Given the description of an element on the screen output the (x, y) to click on. 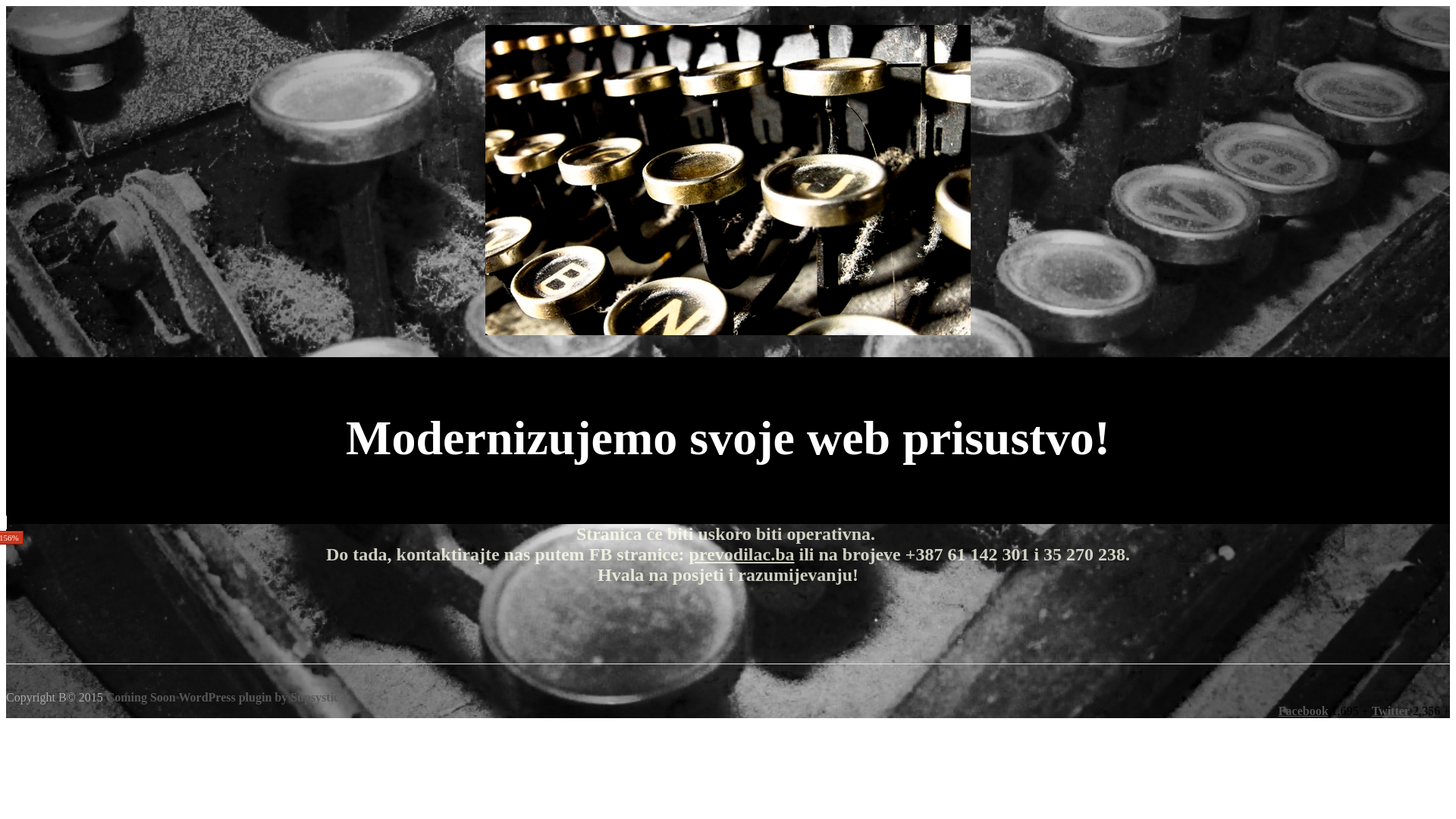
Coming Soon WordPress plugin by Supsystic Element type: text (222, 696)
Twitter Element type: text (1390, 710)
prevodilac.ba Element type: text (741, 554)
Facebook Element type: text (1303, 710)
